Given the description of an element on the screen output the (x, y) to click on. 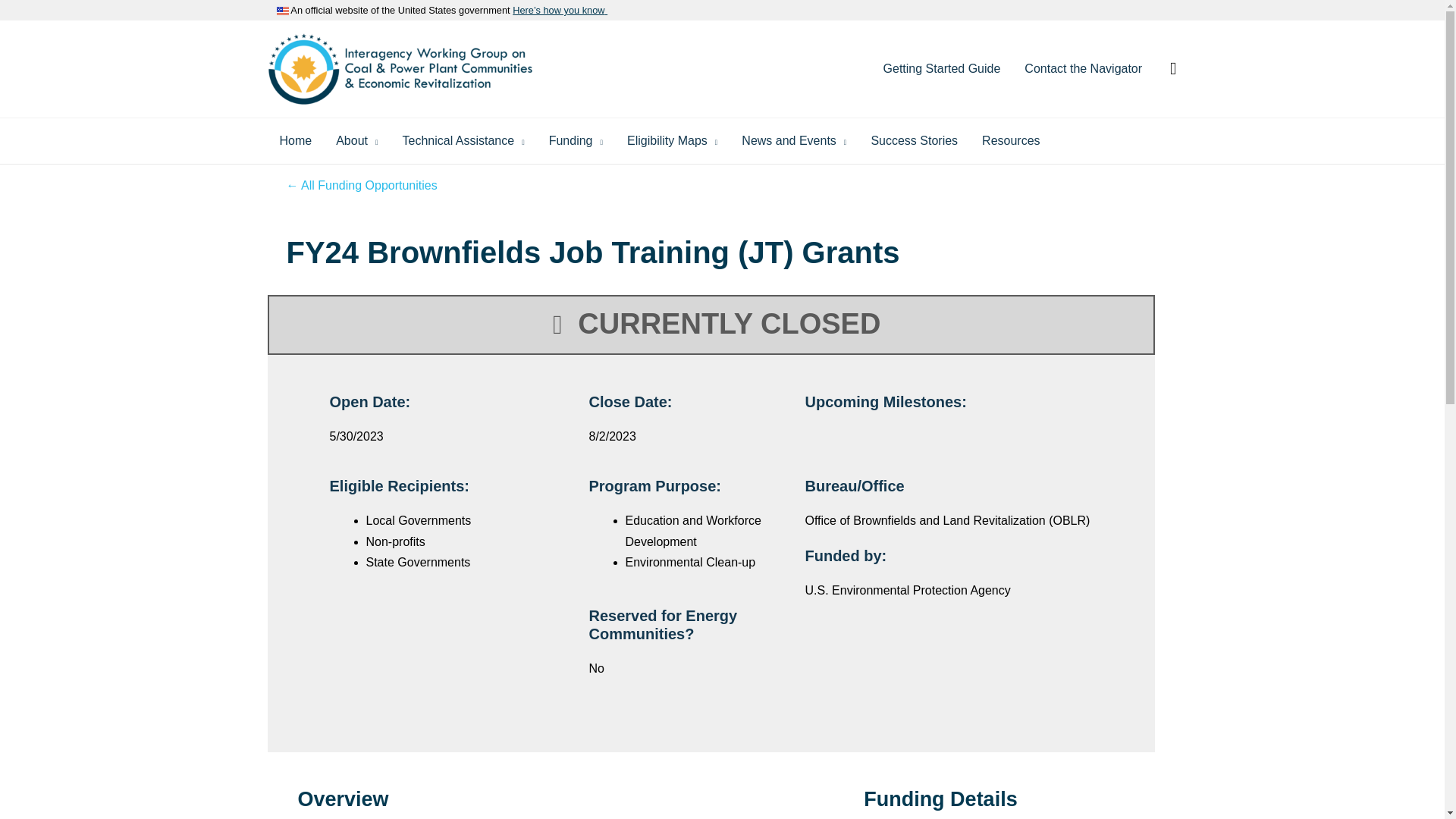
Getting Started Guide (941, 68)
Eligibility Maps (671, 140)
Resources (1010, 140)
Home (294, 140)
Success Stories (914, 140)
Funding (575, 140)
Technical Assistance (463, 140)
About (356, 140)
News and Events (794, 140)
Contact the Navigator (1082, 68)
